Given the description of an element on the screen output the (x, y) to click on. 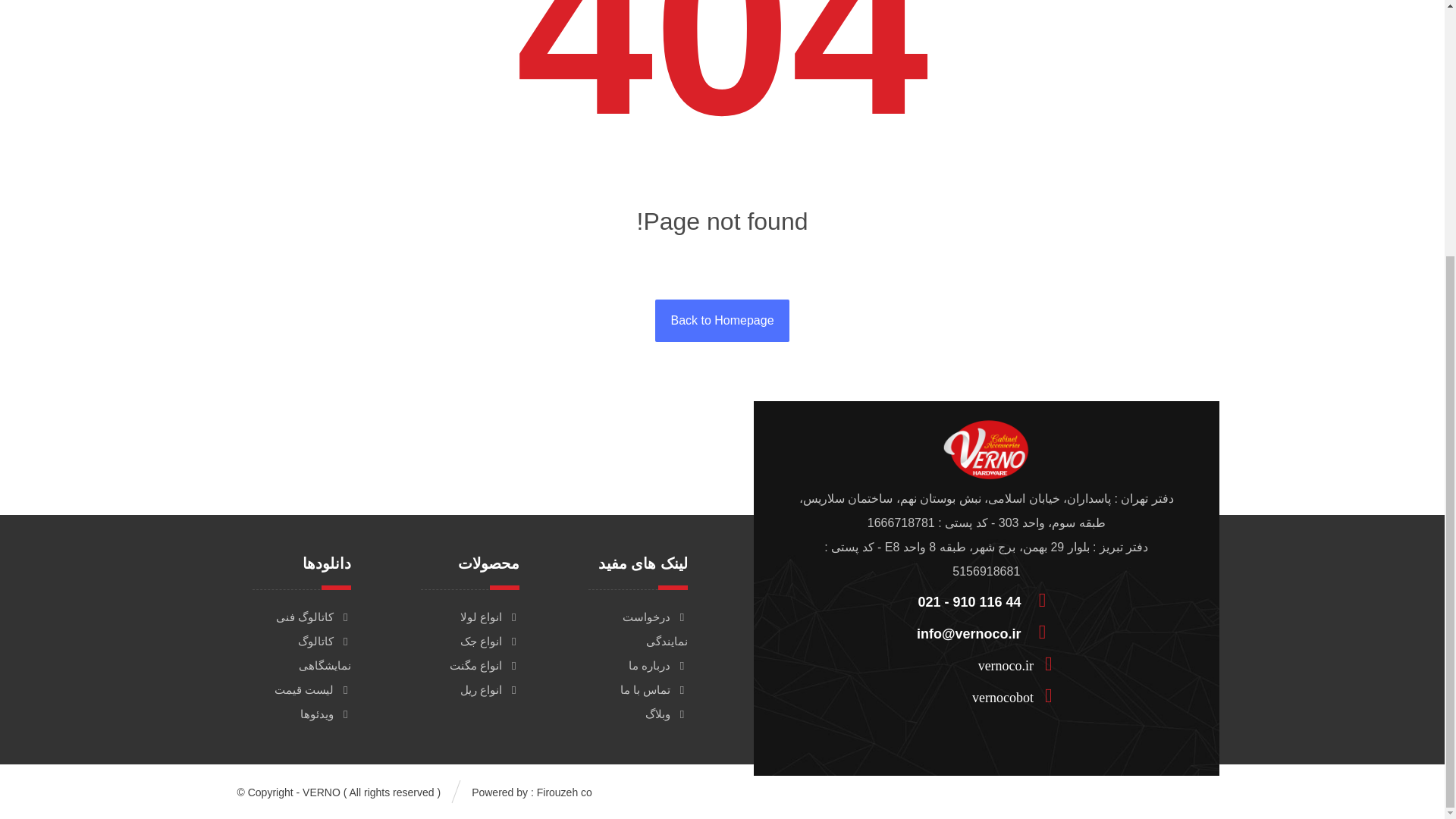
vernoco.ir (980, 663)
vernocobot (980, 694)
Back to Homepage (722, 320)
